Given the description of an element on the screen output the (x, y) to click on. 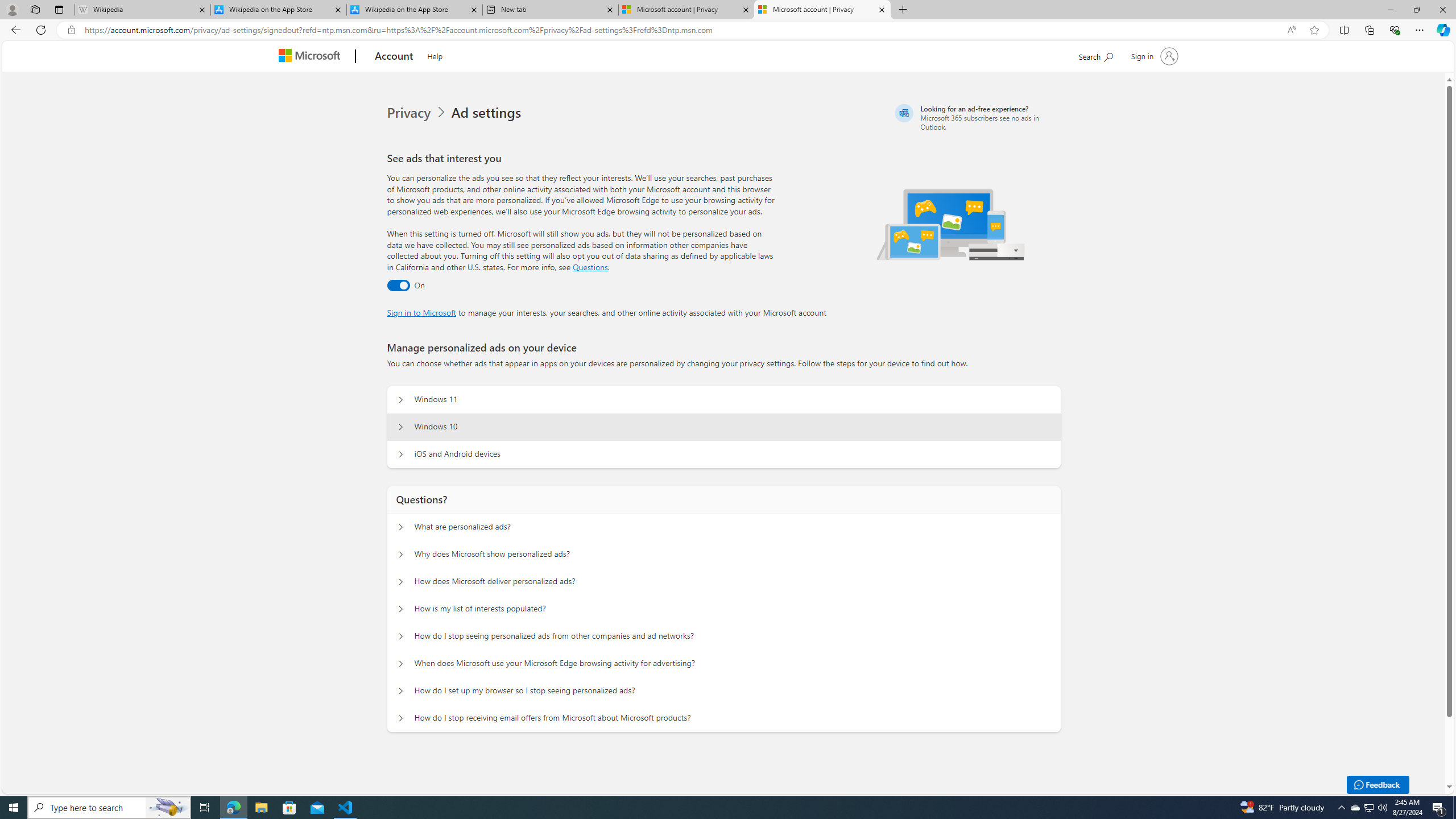
Workspaces (34, 9)
Close (1442, 9)
Browser essentials (1394, 29)
Wikipedia - Sleeping (142, 9)
App bar (728, 29)
Settings and more (Alt+F) (1419, 29)
Manage personalized ads on your device Windows 10 (401, 427)
Copilot (Ctrl+Shift+.) (1442, 29)
Split screen (1344, 29)
Address and search bar (680, 29)
